Given the description of an element on the screen output the (x, y) to click on. 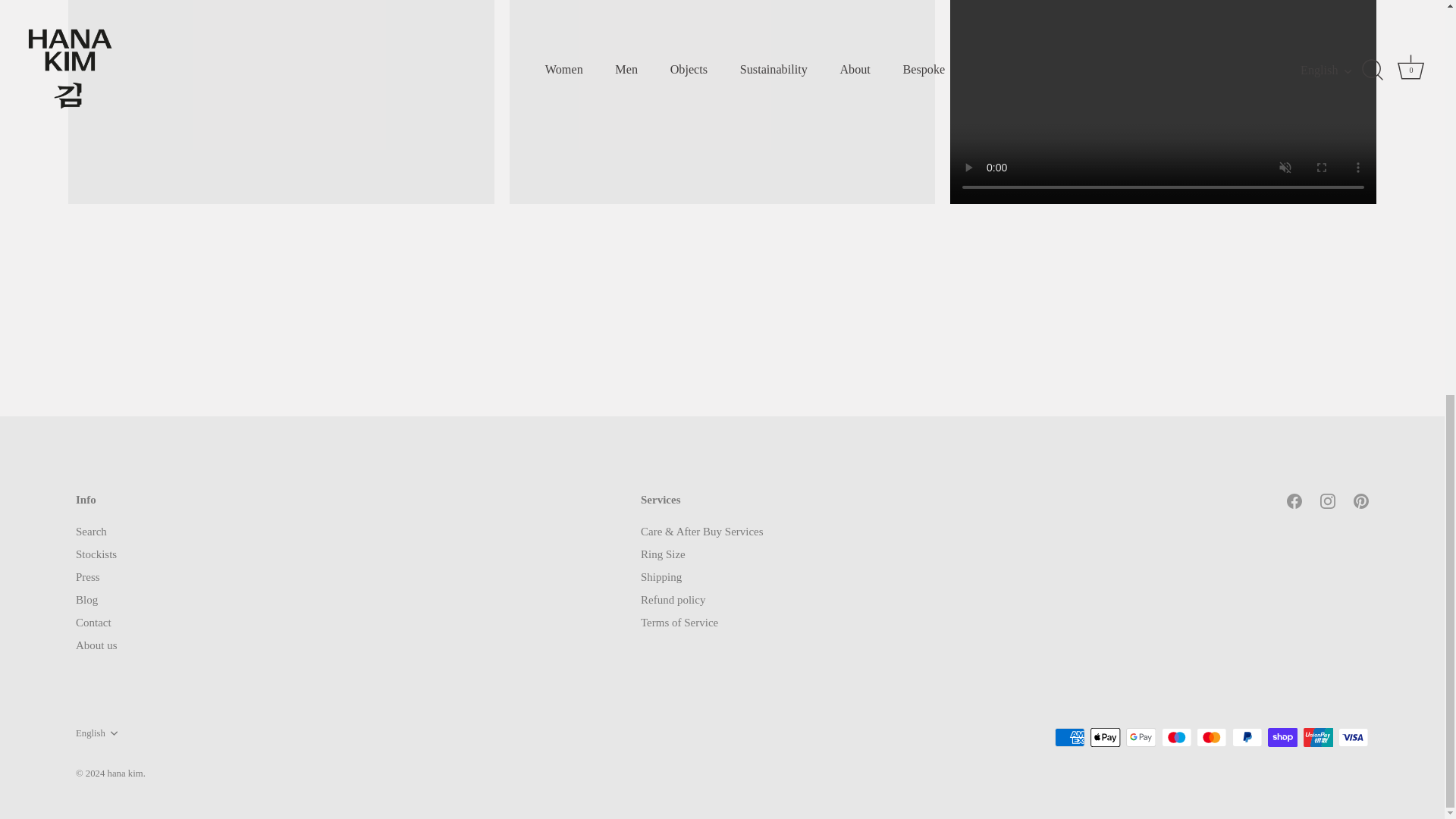
Shop Pay (1282, 737)
Visa (1353, 737)
Google Pay (1140, 737)
Pinterest (1361, 500)
PayPal (1246, 737)
Mastercard (1210, 737)
Maestro (1176, 737)
Union Pay (1318, 737)
Instagram (1327, 500)
American Express (1069, 737)
